Given the description of an element on the screen output the (x, y) to click on. 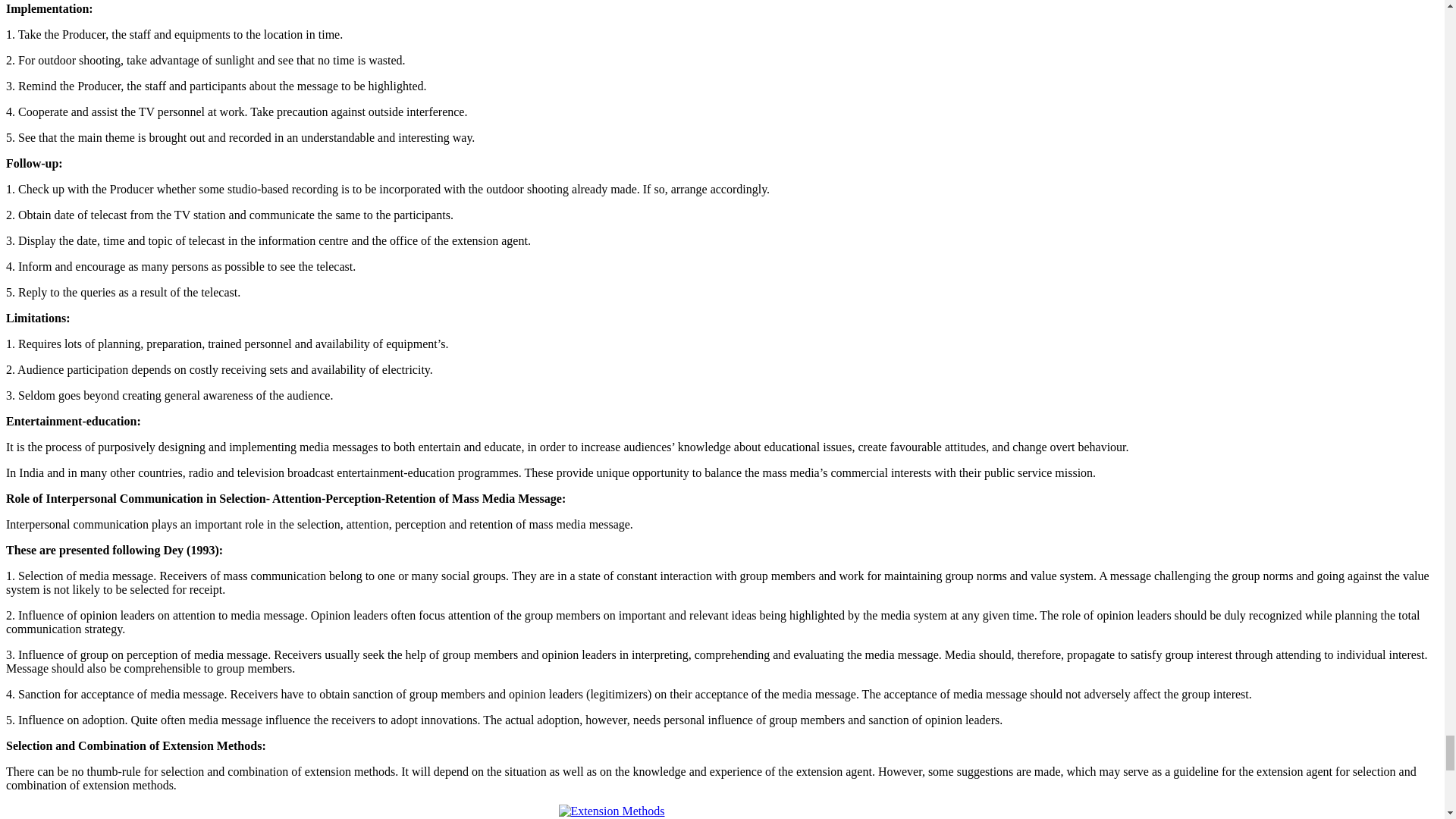
Extension Methods (721, 811)
